Given the description of an element on the screen output the (x, y) to click on. 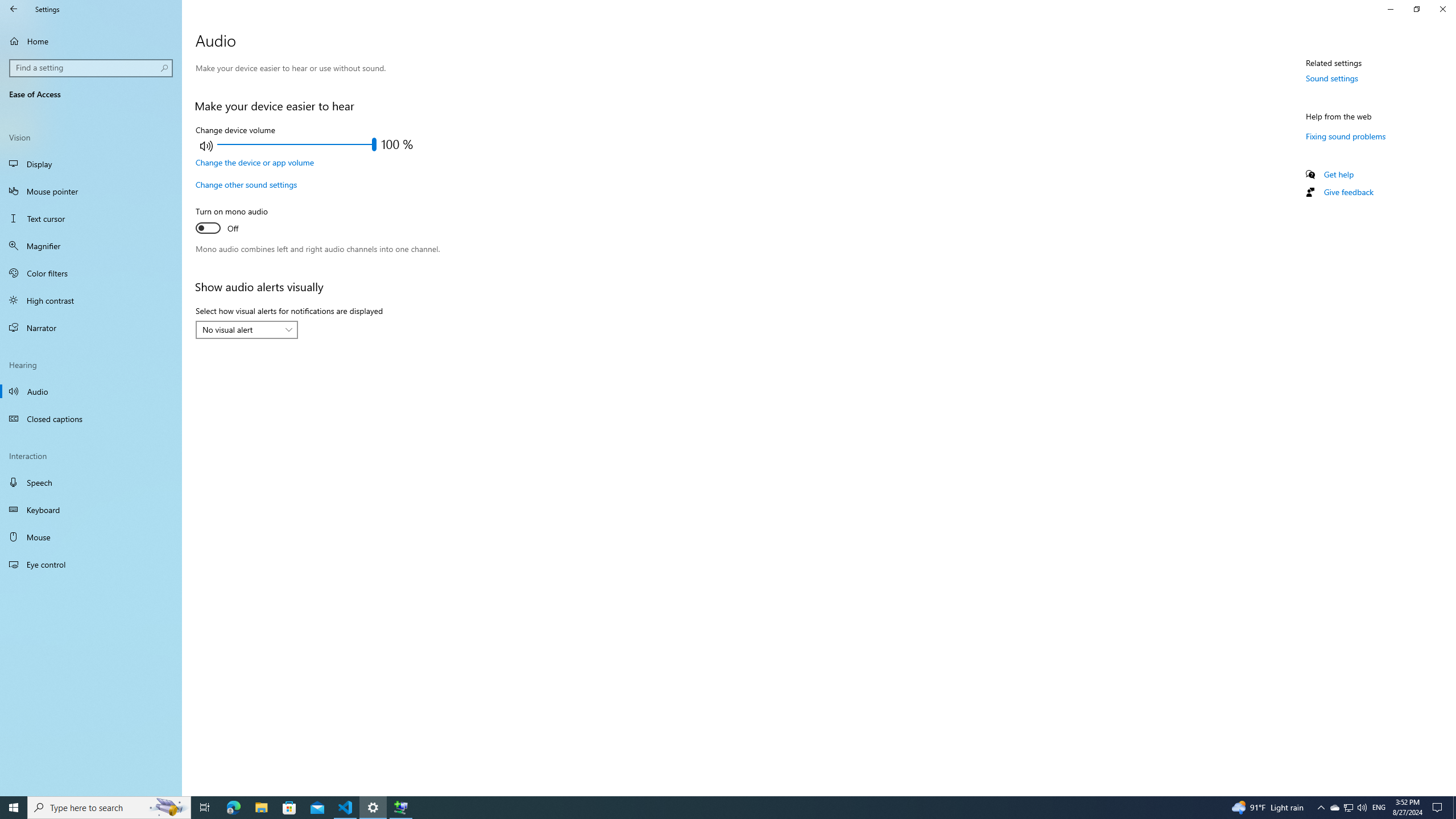
Turn on mono audio (237, 221)
Audio (91, 390)
Change other sound settings (246, 184)
Eye control (91, 564)
Fixing sound problems (1346, 136)
Change device volume (296, 144)
Closed captions (91, 418)
Keyboard (91, 509)
